Given the description of an element on the screen output the (x, y) to click on. 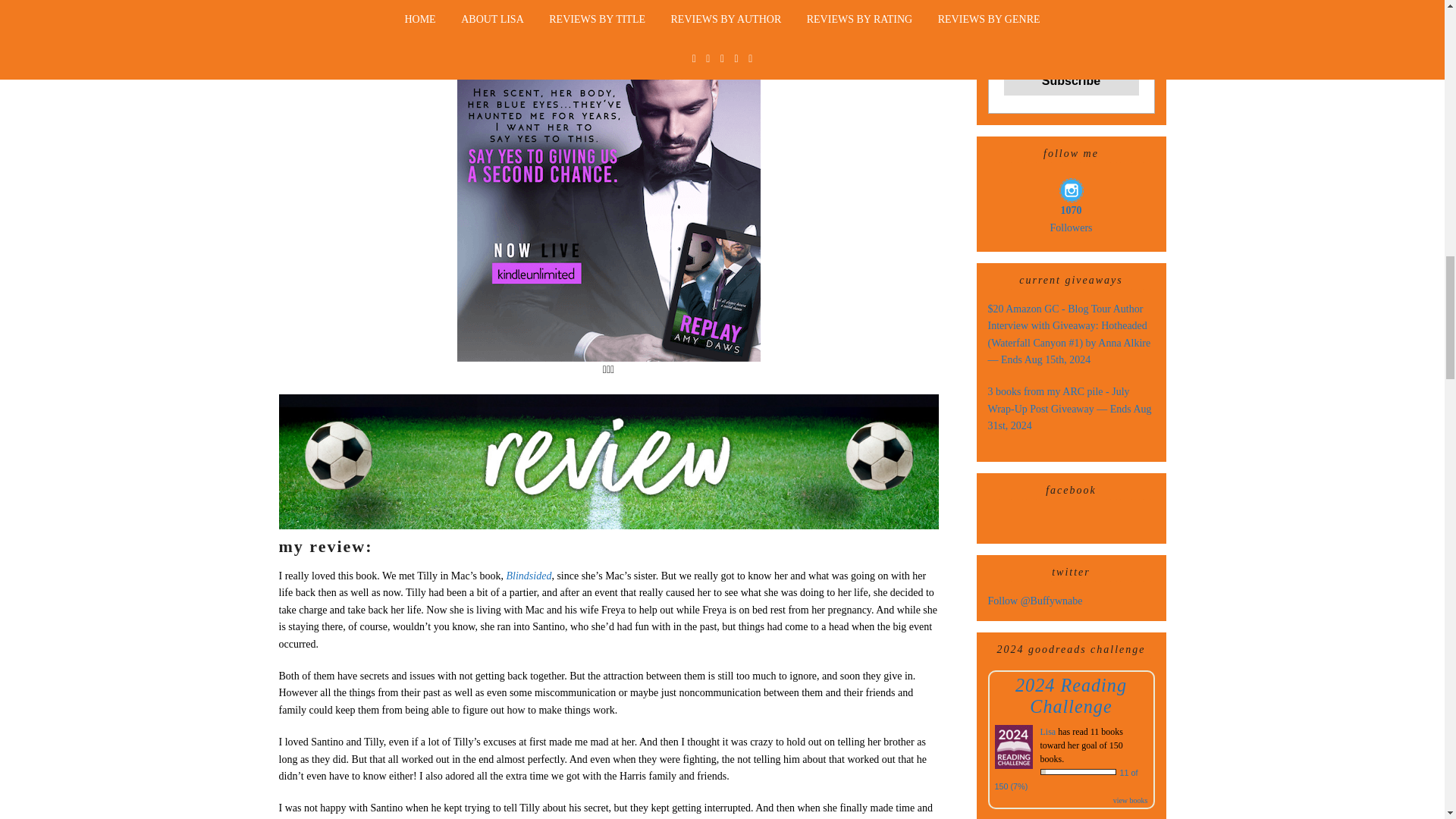
Blindsided (528, 575)
Subscribe (1071, 80)
Download now or read in Kindle Unlimited (608, 2)
